Given the description of an element on the screen output the (x, y) to click on. 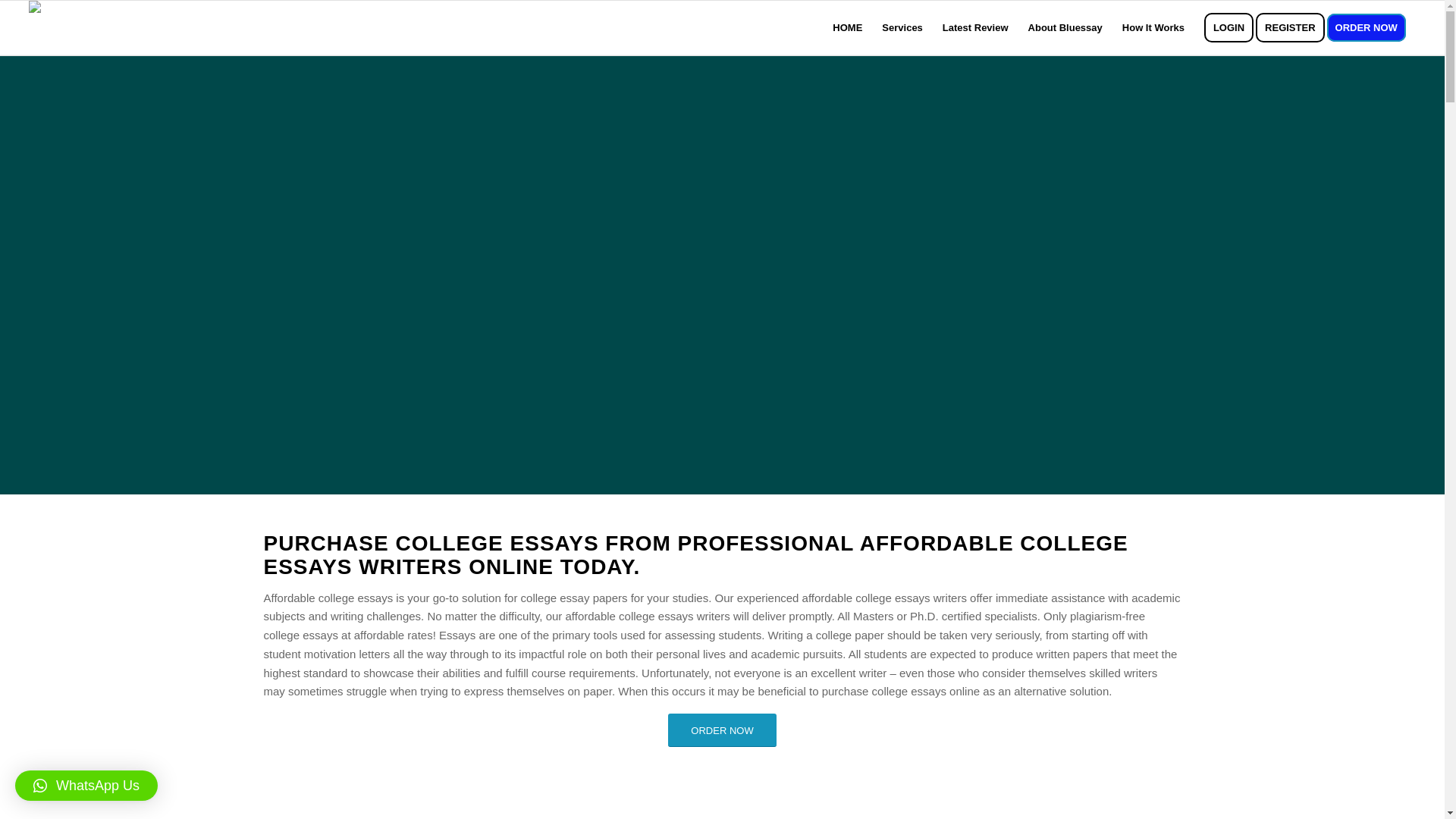
Services (902, 27)
Latest Review (975, 27)
REGISTER (1294, 27)
LOGIN (1228, 27)
About Bluessay (1064, 27)
How It Works (1152, 27)
ORDER NOW (722, 730)
HOME (847, 27)
ORDER NOW (1370, 27)
blueessay logo- (58, 10)
